Given the description of an element on the screen output the (x, y) to click on. 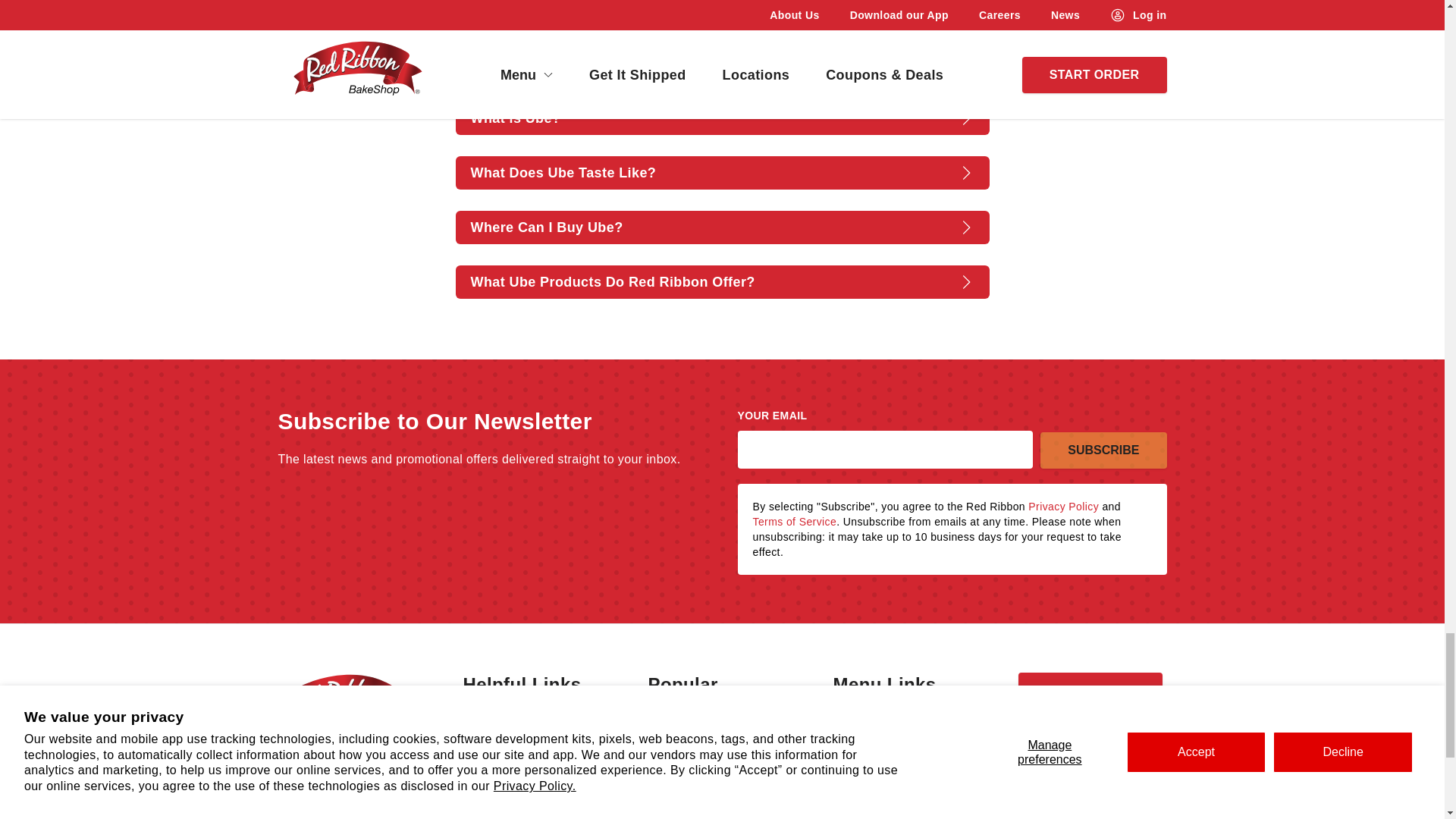
Red Ribbon Bakeshop (342, 732)
